Given the description of an element on the screen output the (x, y) to click on. 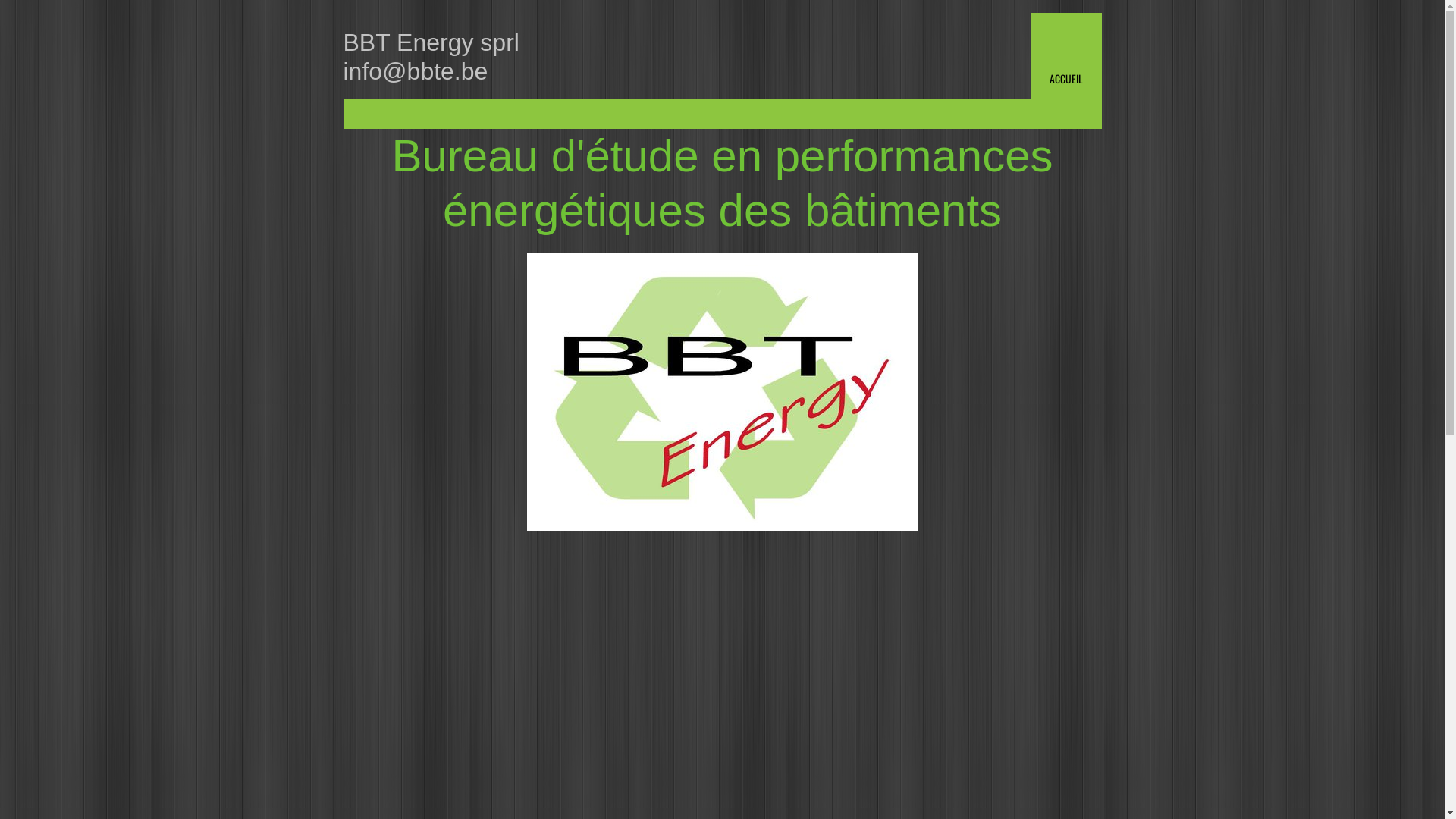
ACCUEIL Element type: text (1065, 55)
